Given the description of an element on the screen output the (x, y) to click on. 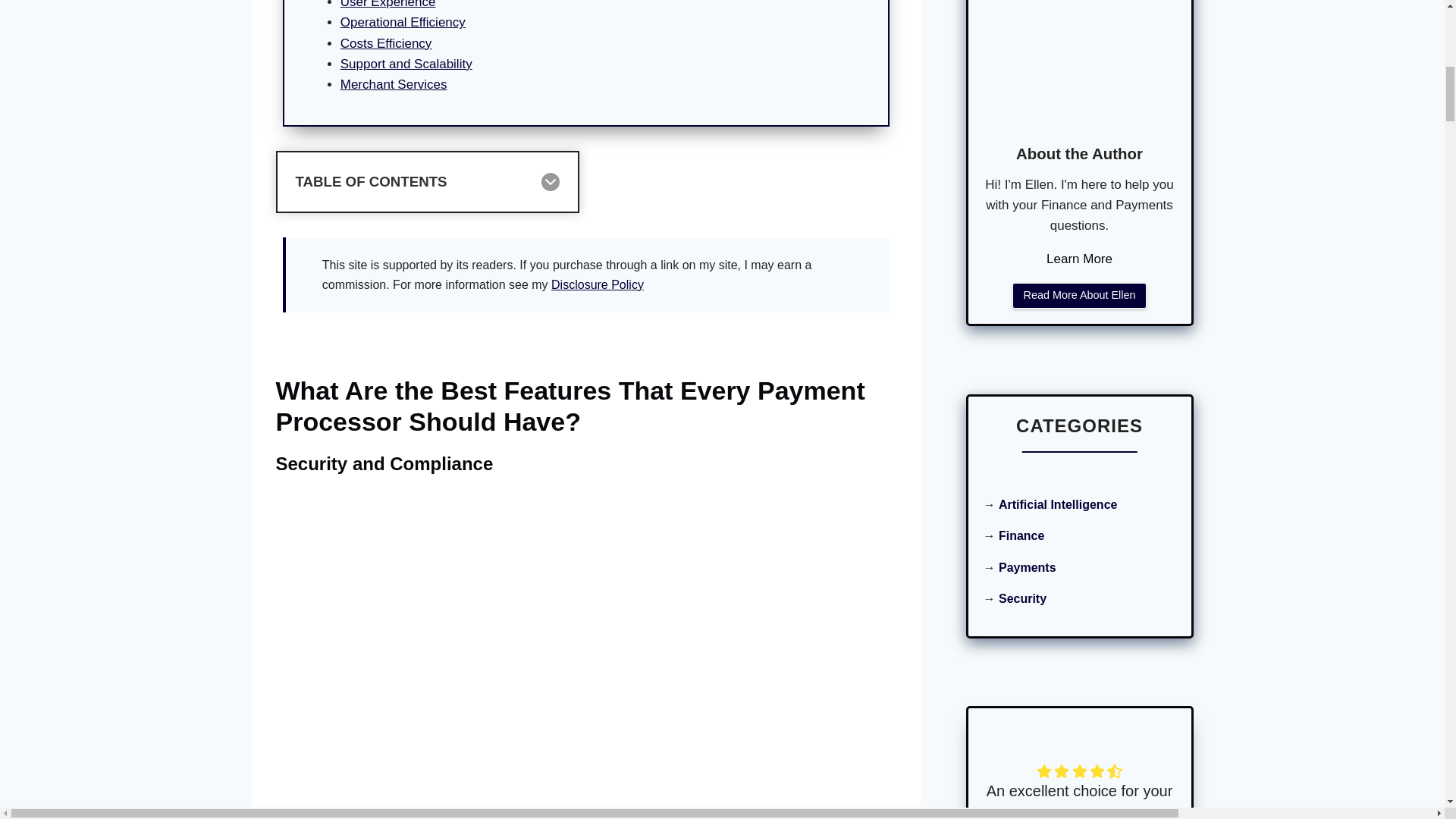
Merchant Services (393, 83)
TABLE OF CONTENTS (586, 181)
Operational Efficiency (402, 22)
User Experience (387, 4)
Costs Efficiency (386, 43)
Support and Scalability (405, 63)
